Given the description of an element on the screen output the (x, y) to click on. 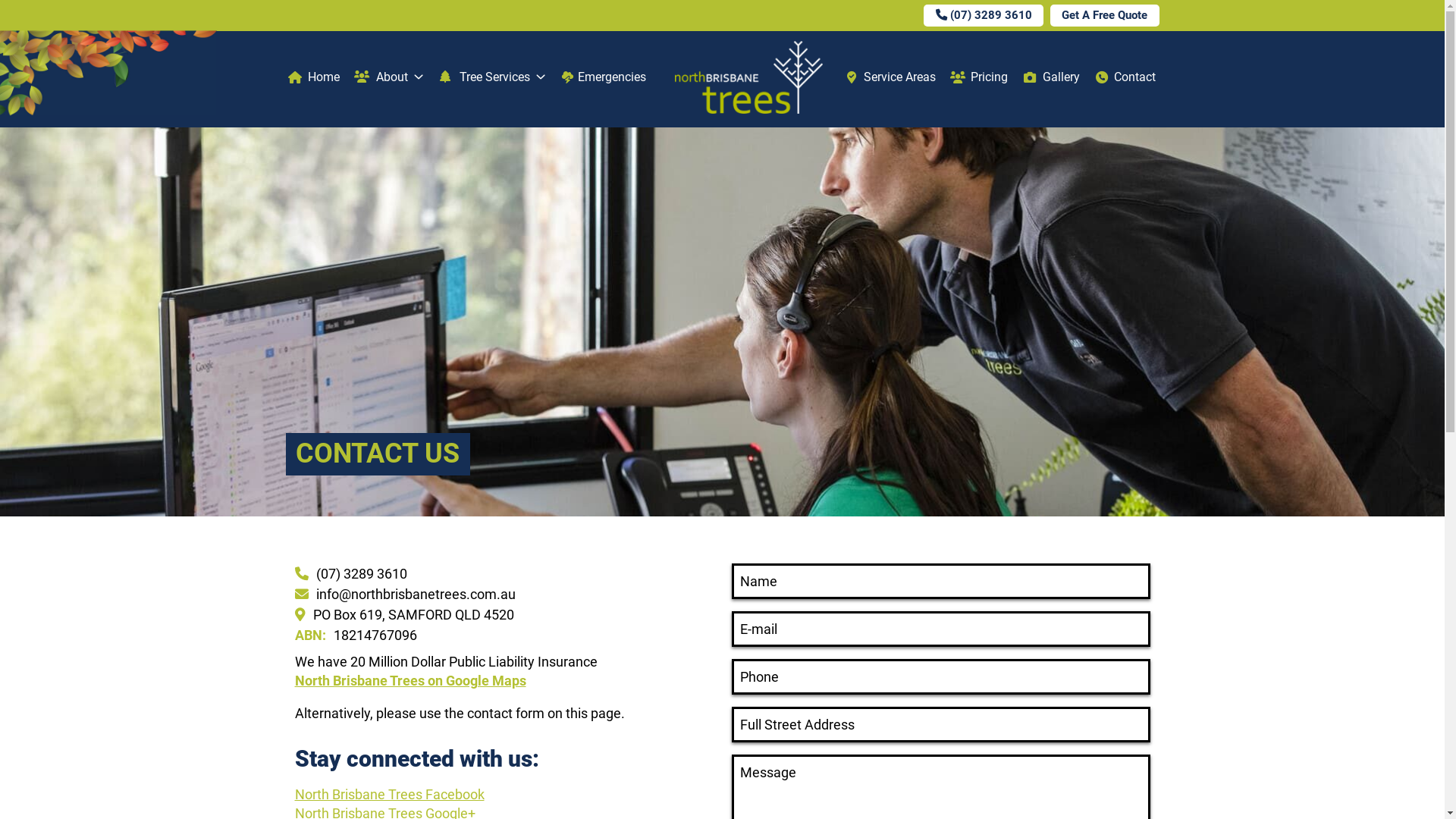
Contact Element type: text (1124, 77)
Emergencies Element type: text (603, 77)
North Brisbane Trees Facebook Element type: text (388, 794)
Tree Services Element type: text (492, 76)
18214767096 Element type: text (503, 634)
PO Box 619, SAMFORD QLD 4520 Element type: text (503, 614)
Gallery Element type: text (1050, 77)
Home Element type: text (313, 77)
Service Areas Element type: text (889, 77)
Pricing Element type: text (979, 77)
North Brisbane Trees on Google Maps Element type: text (409, 680)
About Element type: text (388, 76)
(07) 3289 3610 Element type: text (983, 14)
Get A Free Quote Element type: text (1104, 14)
(07) 3289 3610 Element type: text (503, 573)
info@northbrisbanetrees.com.au Element type: text (503, 593)
